Given the description of an element on the screen output the (x, y) to click on. 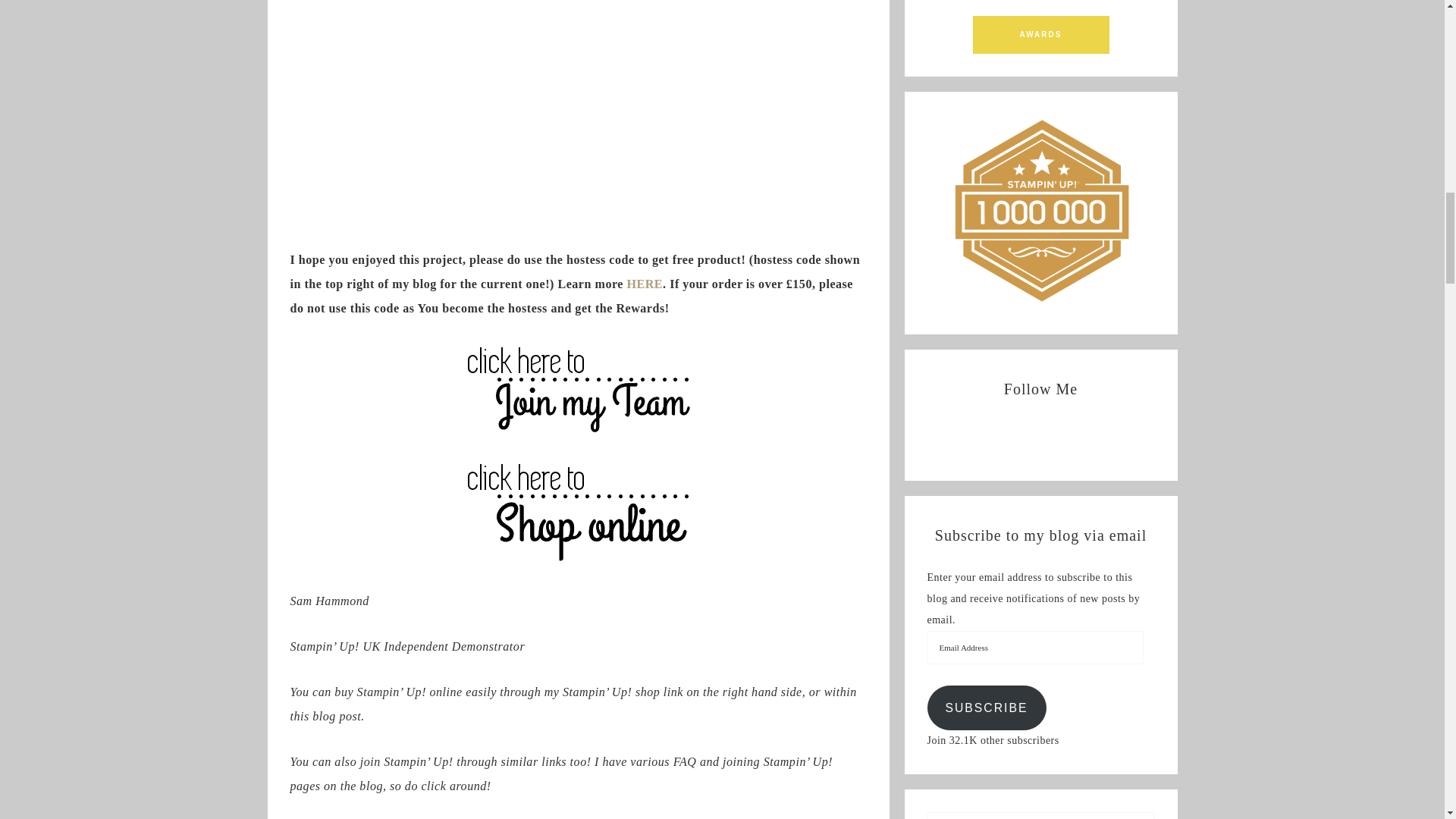
HERE (644, 283)
YouTube player (577, 52)
